Given the description of an element on the screen output the (x, y) to click on. 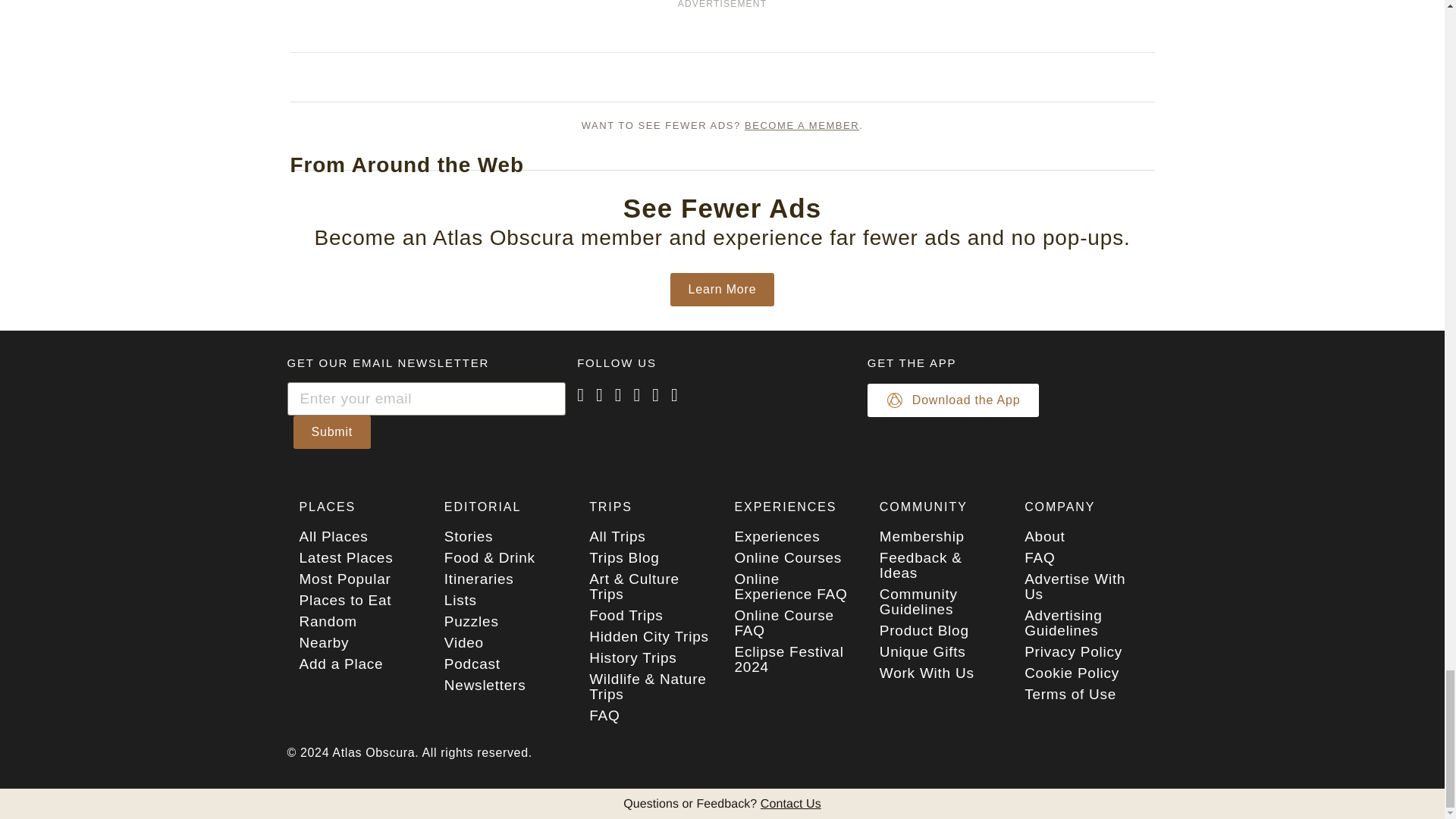
Submit (331, 431)
